Given the description of an element on the screen output the (x, y) to click on. 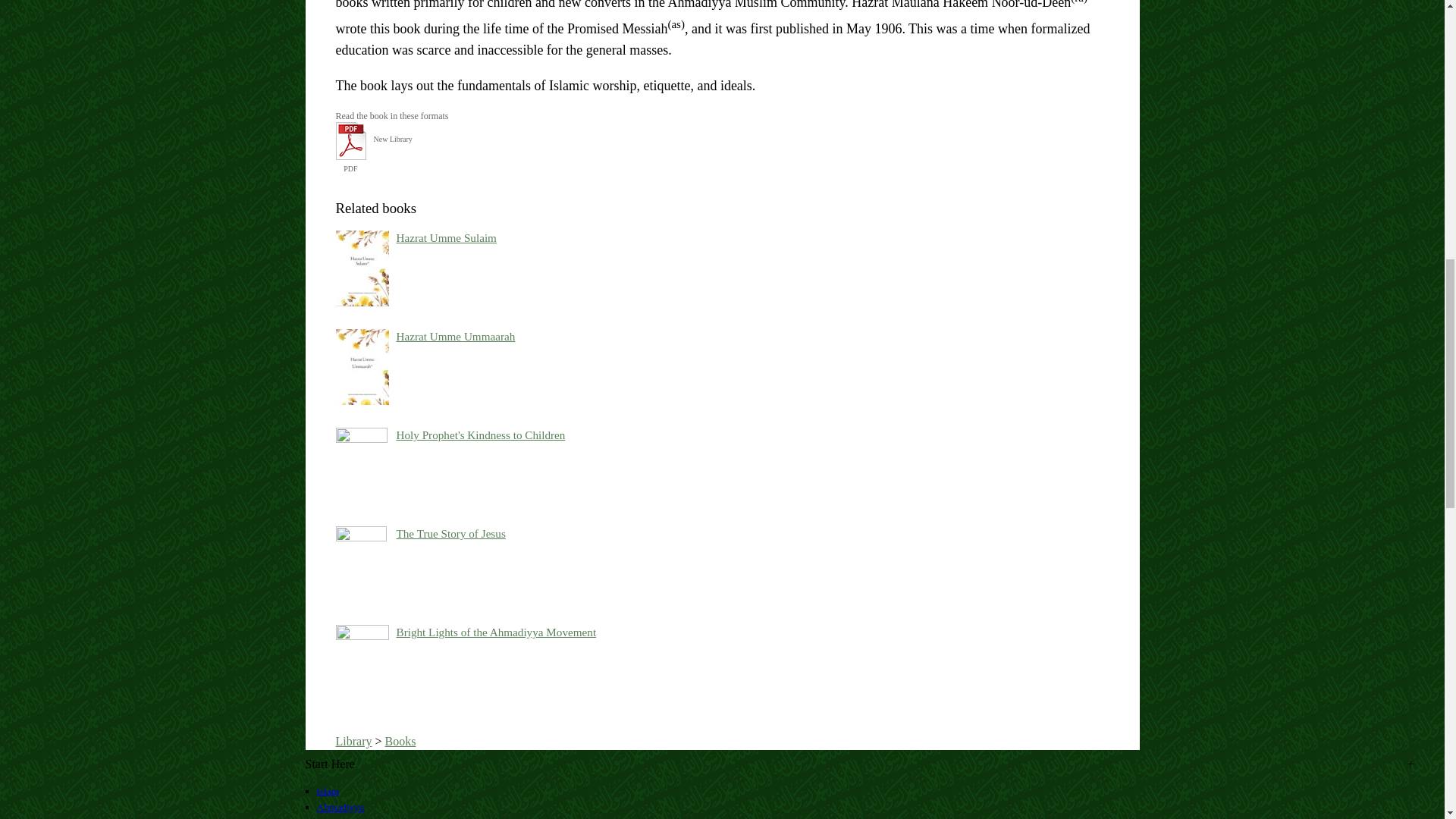
Hazrat Umme Ummaarah (455, 336)
Bright Lights of the Ahmadiyya Movement (495, 631)
The True Story of Jesus (450, 533)
Hazrat Umme Sulaim (446, 237)
Download PDF (349, 156)
Holy Prophet's Kindness to Children (480, 434)
